Given the description of an element on the screen output the (x, y) to click on. 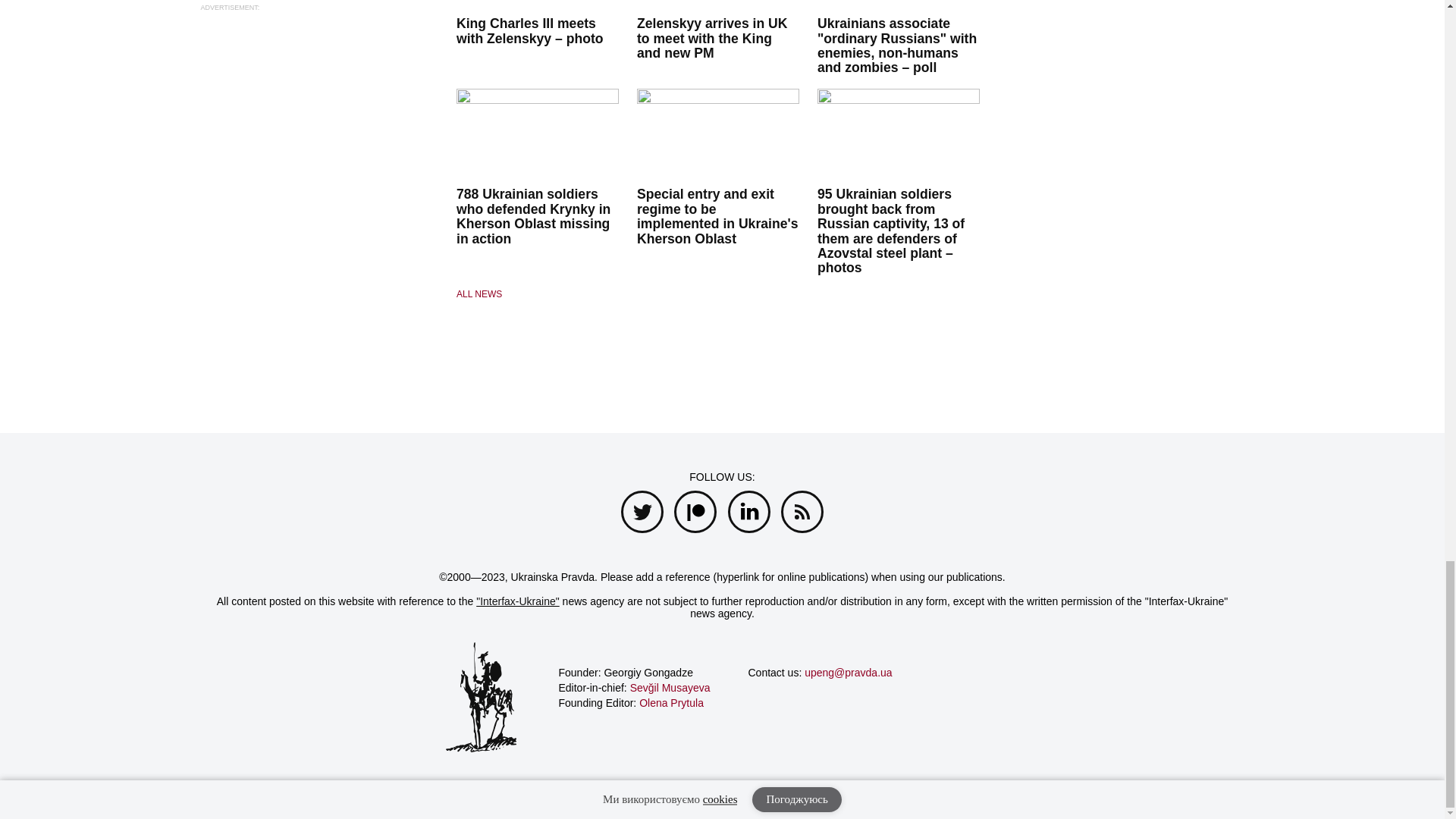
Zelenskyy arrives in UK to meet with the King and new PM (712, 37)
